Given the description of an element on the screen output the (x, y) to click on. 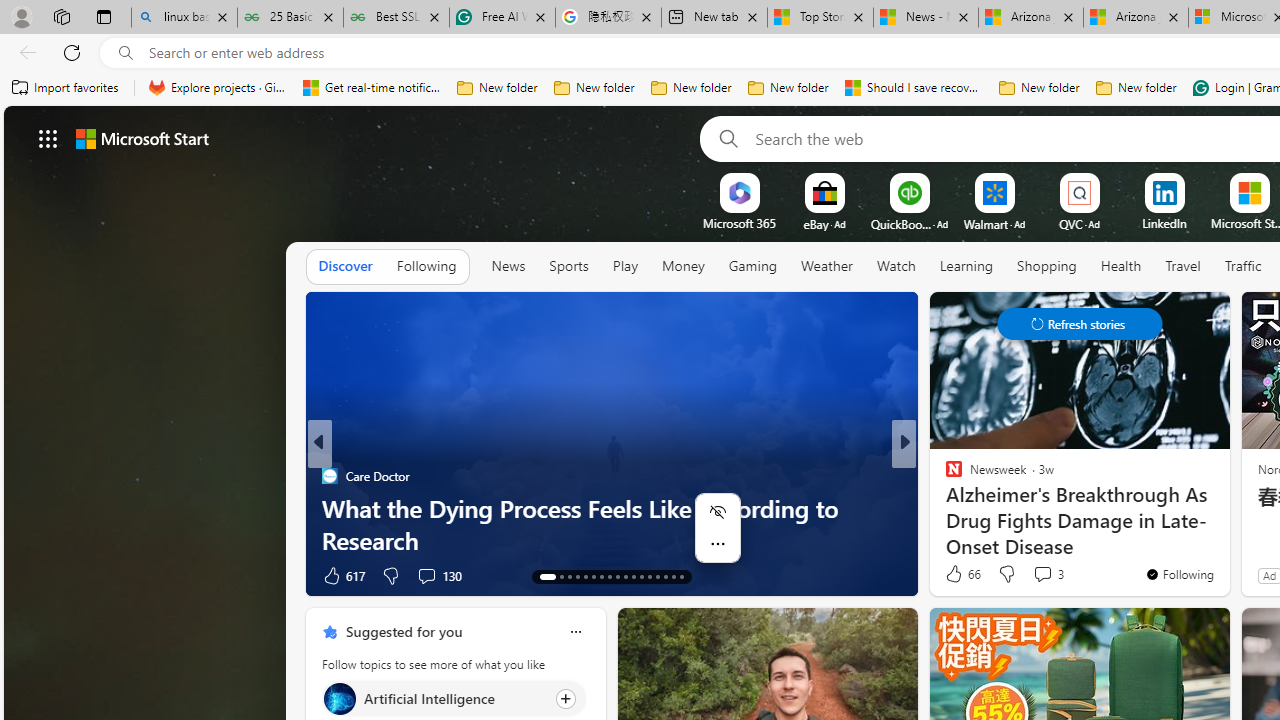
AutomationID: tab-27 (664, 576)
328 Like (959, 574)
Import favorites (65, 88)
68 Like (956, 574)
Body Network (944, 475)
55 Like (956, 574)
AutomationID: tab-29 (681, 576)
The six weird traits which show you have neanderthal DNA (611, 523)
Hide menu (717, 511)
View comments 3 Comment (1048, 574)
Daily Mail (329, 475)
